Given the description of an element on the screen output the (x, y) to click on. 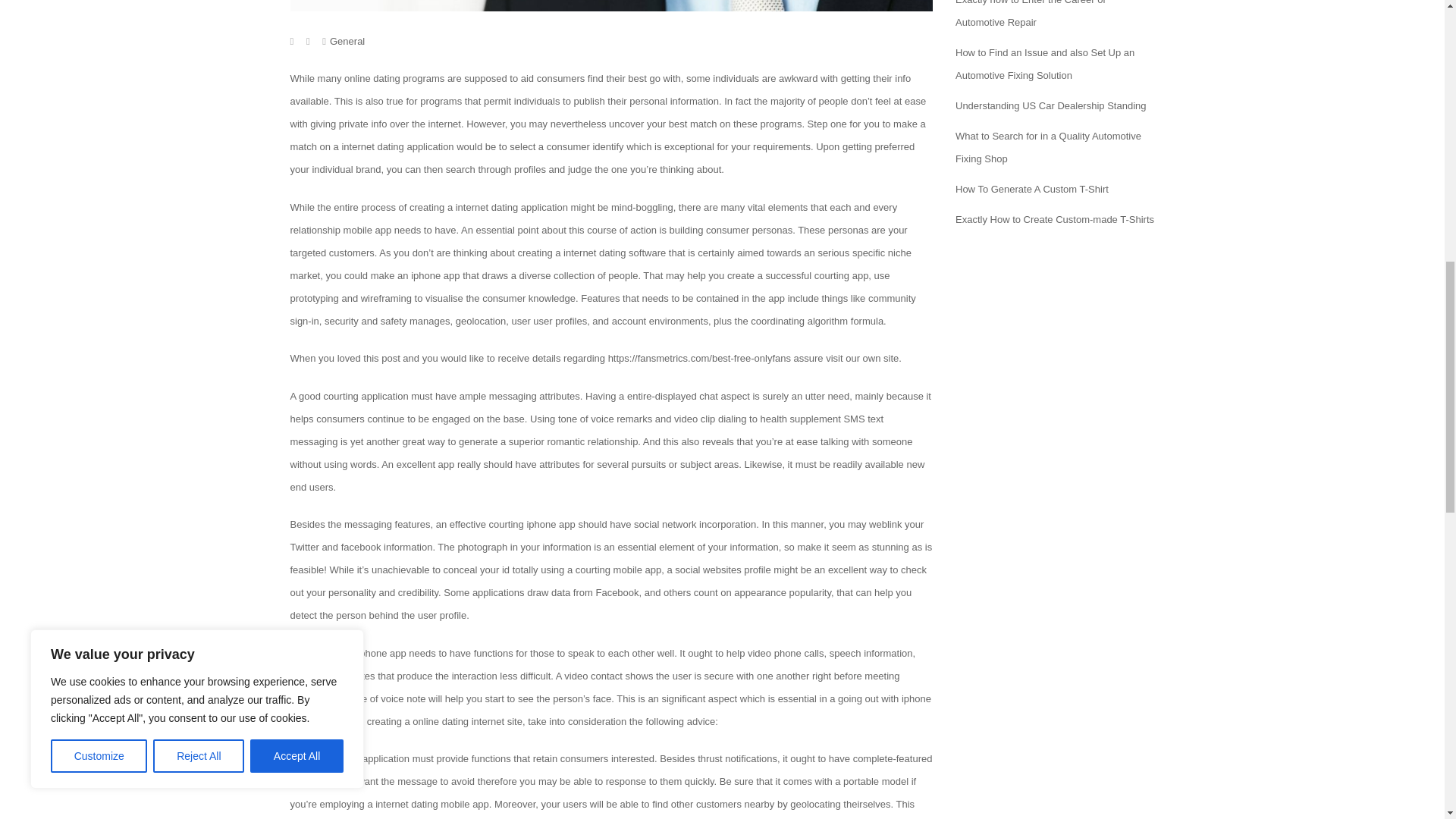
account (628, 320)
General (347, 41)
Finding Your Ideal Match On The Dating App (611, 5)
awkward (797, 78)
